Given the description of an element on the screen output the (x, y) to click on. 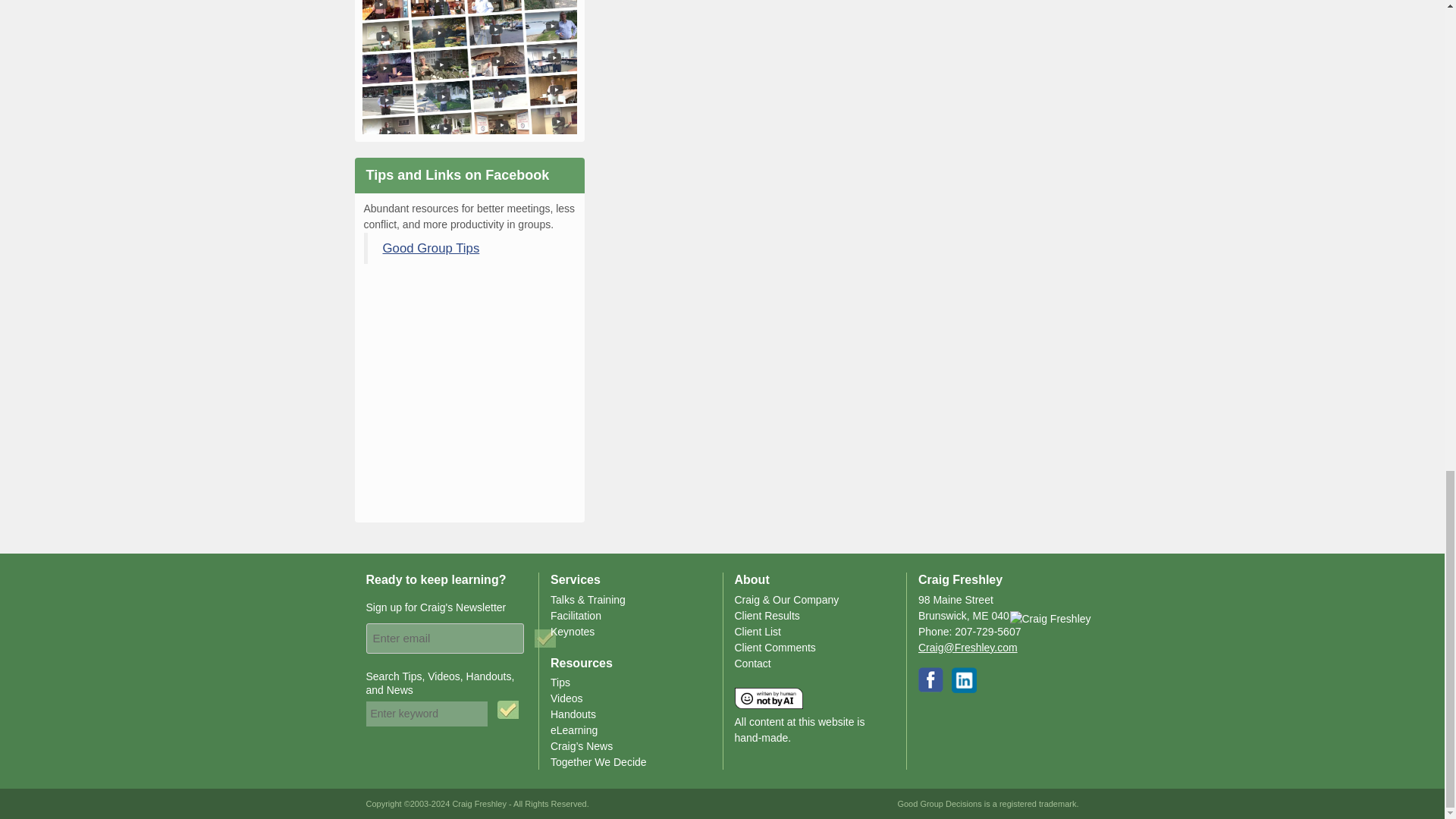
Craig's Videos (470, 70)
Search (509, 710)
Search (509, 710)
Good Group Tips (430, 247)
